Given the description of an element on the screen output the (x, y) to click on. 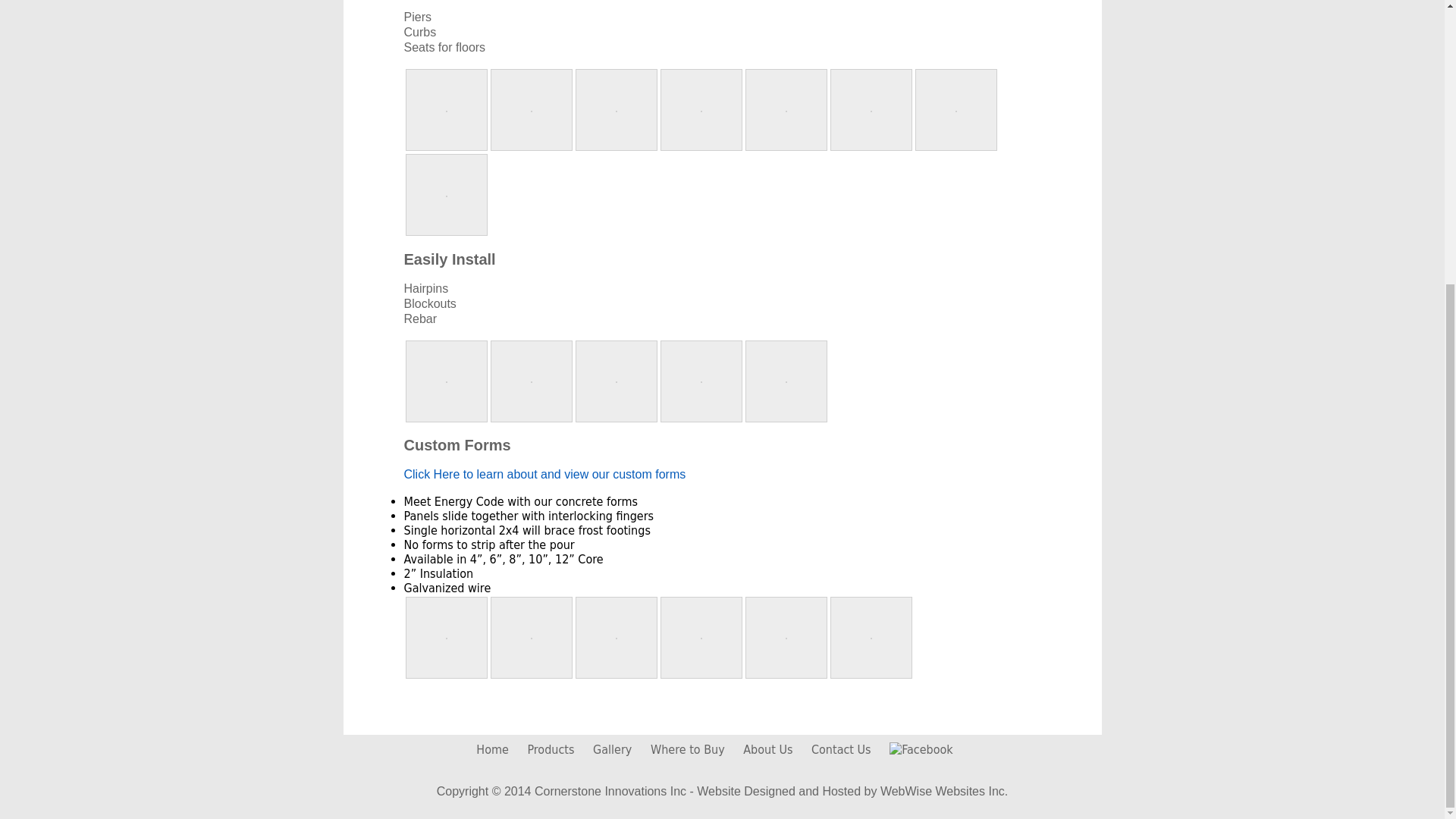
Home (492, 749)
Contact Us (840, 749)
Website Designed and Hosted by WebWise Websites Inc. (852, 790)
About Us (767, 749)
Gallery (611, 749)
Click Here to learn about and view our custom forms (544, 473)
Products (550, 749)
Where to Buy (687, 749)
